Given the description of an element on the screen output the (x, y) to click on. 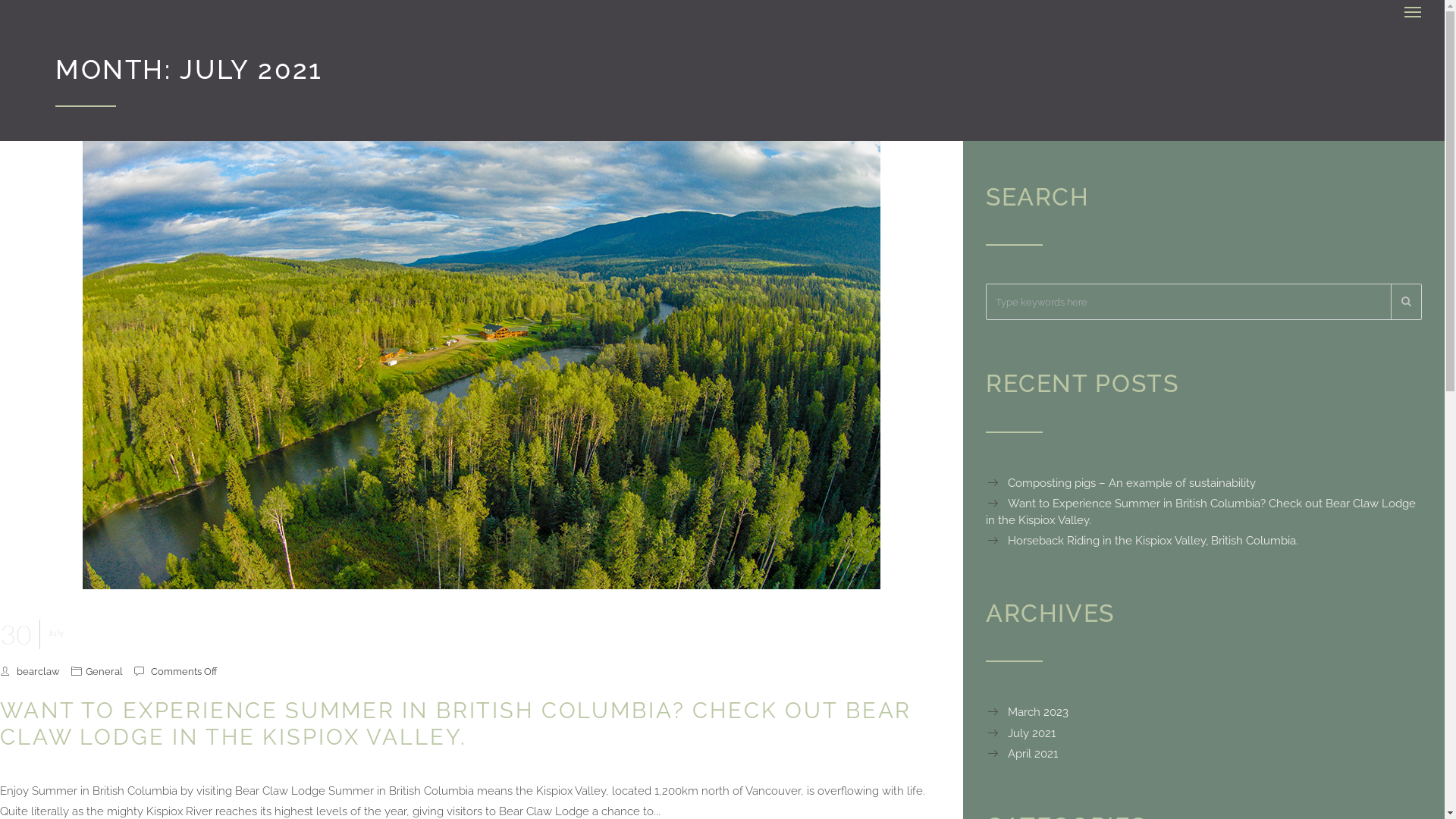
bearclaw Element type: text (37, 671)
General Element type: text (103, 671)
Horseback Riding in the Kispiox Valley, British Columbia. Element type: text (1141, 540)
April 2021 Element type: text (1021, 753)
March 2023 Element type: text (1026, 711)
July 2021 Element type: text (1020, 733)
